Given the description of an element on the screen output the (x, y) to click on. 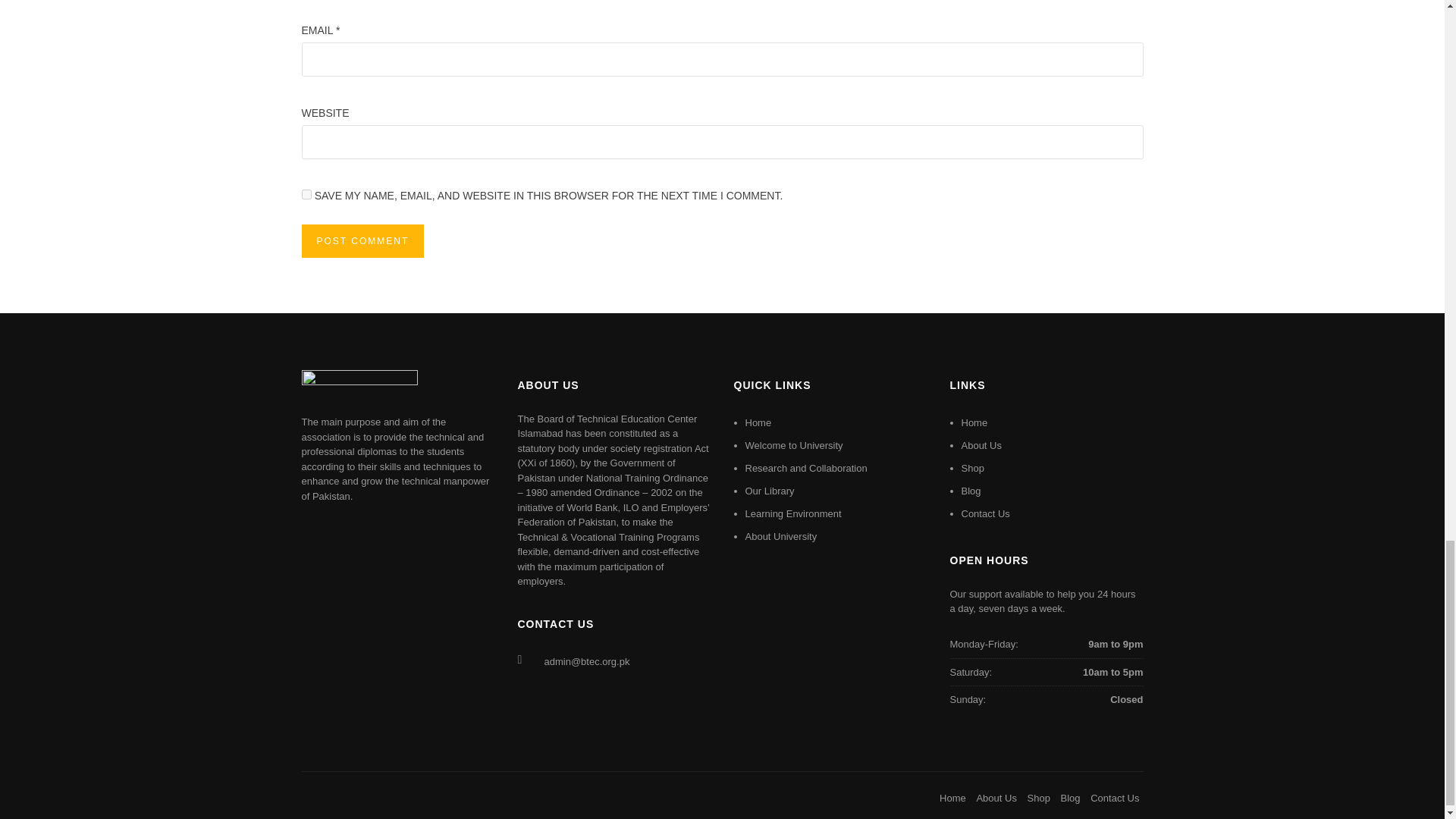
Research and Collaboration (805, 468)
Our Library (768, 490)
Home (757, 422)
Welcome to University (793, 445)
About Us (980, 445)
yes (306, 194)
Home (974, 422)
Shop (1038, 797)
Contact Us (985, 513)
Post Comment (363, 240)
